Given the description of an element on the screen output the (x, y) to click on. 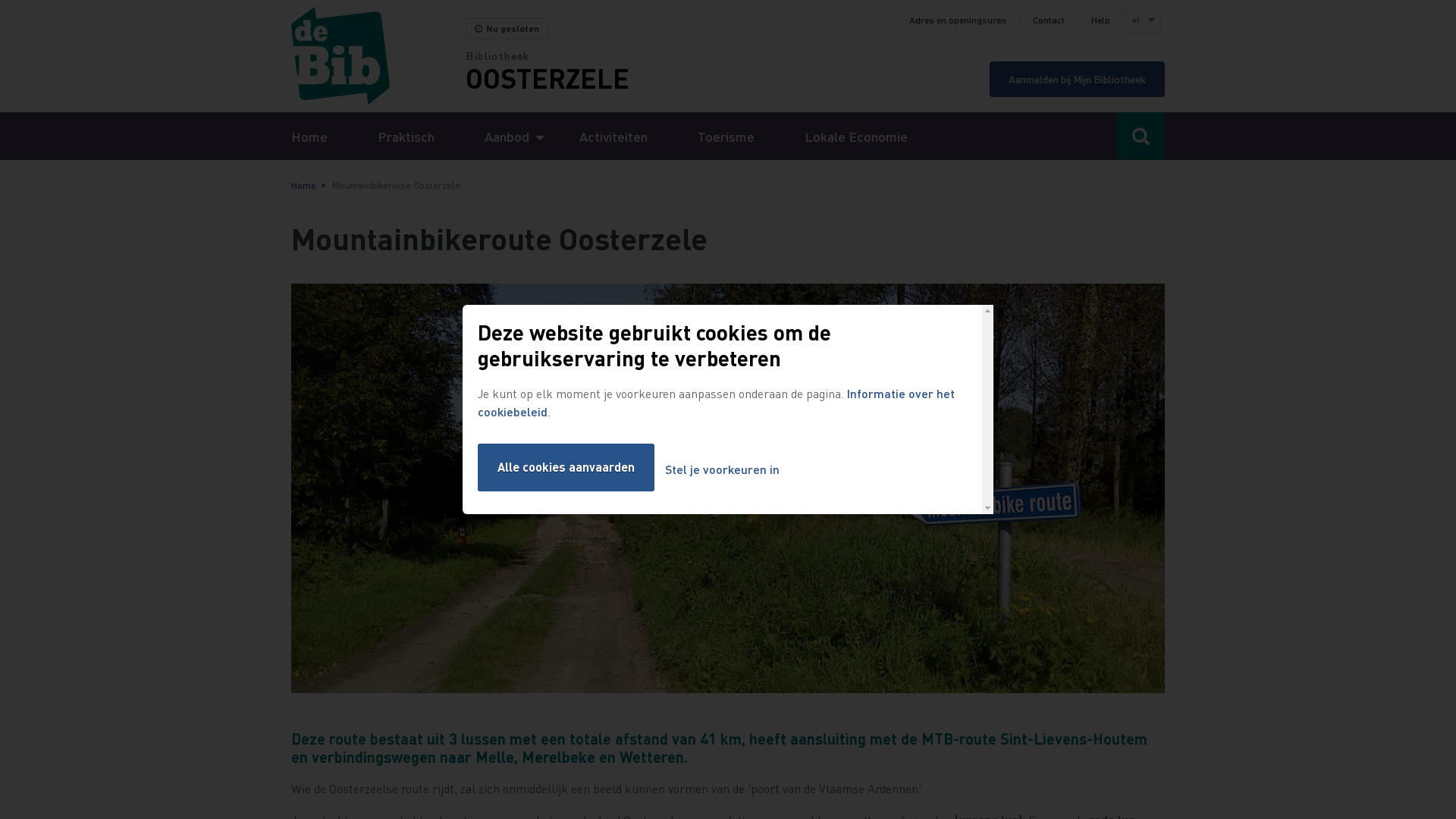
nl Element type: text (1140, 20)
Stel je voorkeuren in Element type: text (722, 469)
Home Element type: hover (378, 55)
Home Element type: text (309, 136)
Toggle search Element type: hover (1140, 136)
Mountainbikeroute Oosterzele Element type: hover (727, 490)
Lokale Economie Element type: text (855, 136)
Mountainbikeroute Oosterzele Element type: hover (727, 488)
Praktisch Element type: text (405, 136)
Contact Element type: text (1048, 20)
Overslaan en naar zoeken gaan Element type: text (0, 0)
Aanmelden bij Mijn Bibliotheek Element type: text (1076, 79)
Home Element type: text (303, 185)
Toerisme Element type: text (725, 136)
Help Element type: text (1100, 20)
Activiteiten Element type: text (613, 136)
Informatie over het cookiebeleid Element type: text (715, 402)
Nu gesloten Element type: text (506, 28)
Alle cookies aanvaarden Element type: text (565, 466)
Adres en openingsuren Element type: text (957, 20)
